Given the description of an element on the screen output the (x, y) to click on. 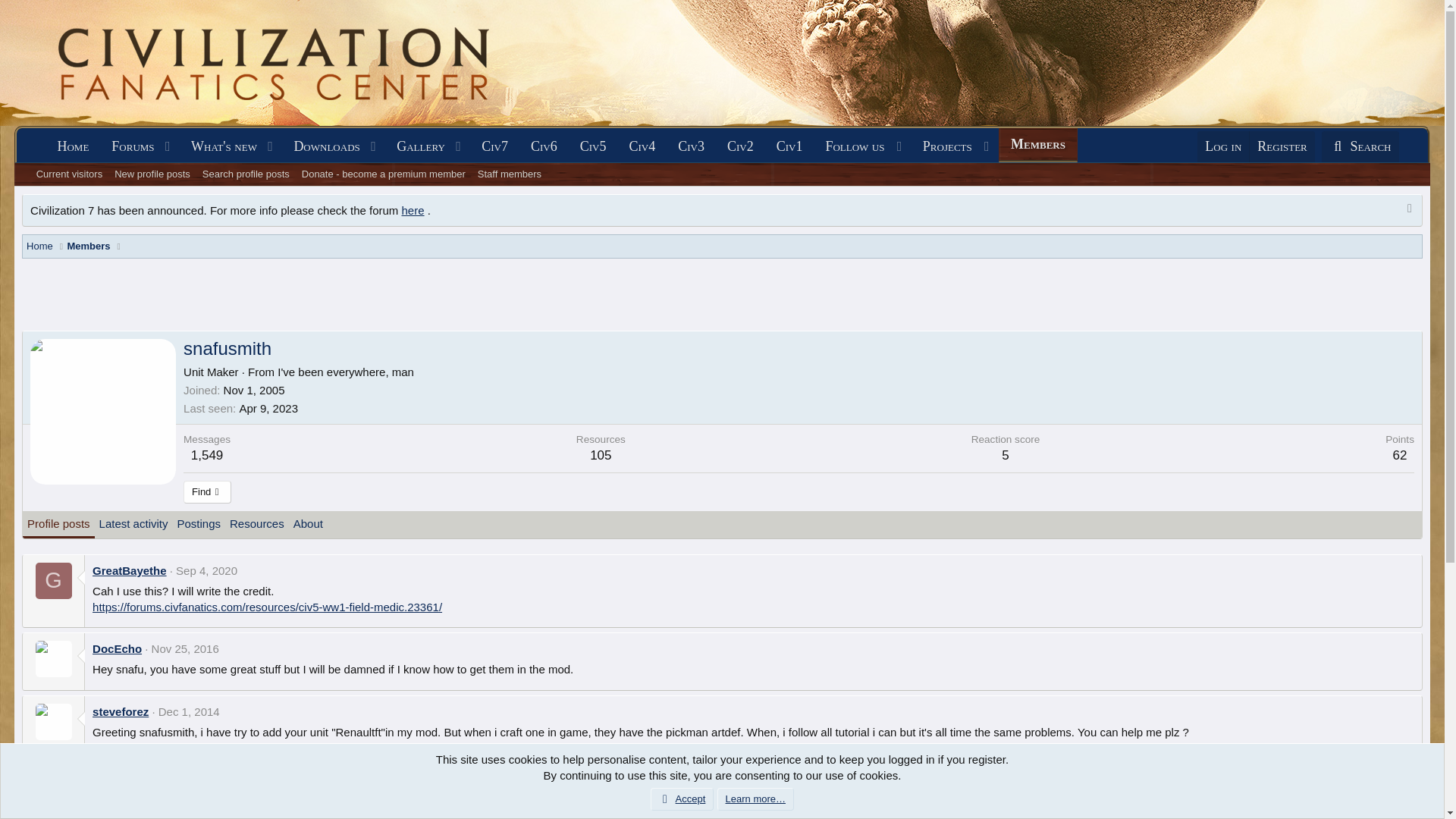
Gallery (415, 146)
Nov 1, 2005 at 8:29 PM (254, 390)
Downloads (321, 146)
Sep 4, 2020 at 2:10 AM (206, 570)
Profile posts Latest activity Postings Resources About (175, 524)
Home (72, 146)
Nov 25, 2016 at 7:08 PM (185, 648)
Dec 1, 2014 at 7:57 AM (188, 711)
